Given the description of an element on the screen output the (x, y) to click on. 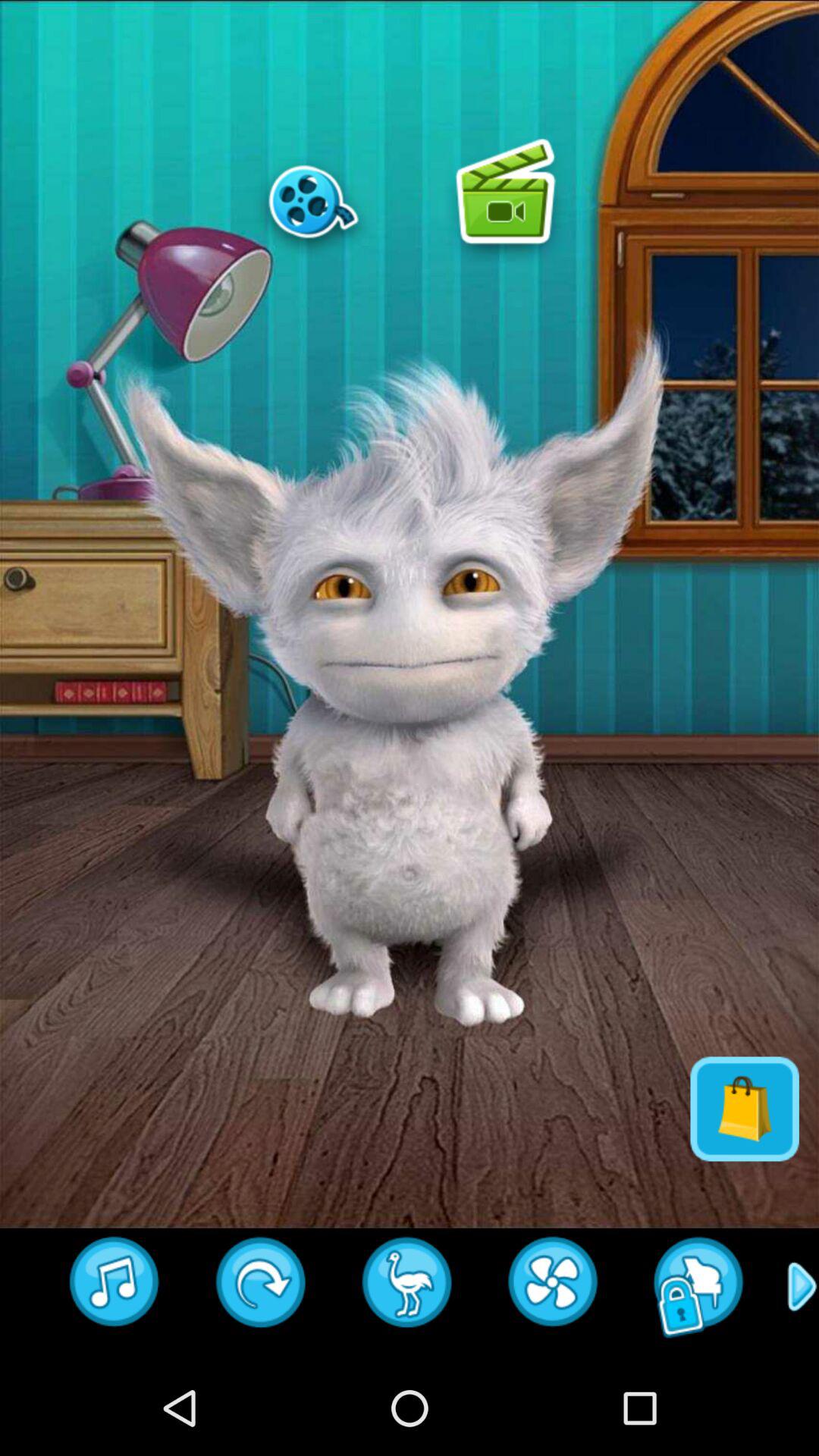
birt game start button (407, 1287)
